Given the description of an element on the screen output the (x, y) to click on. 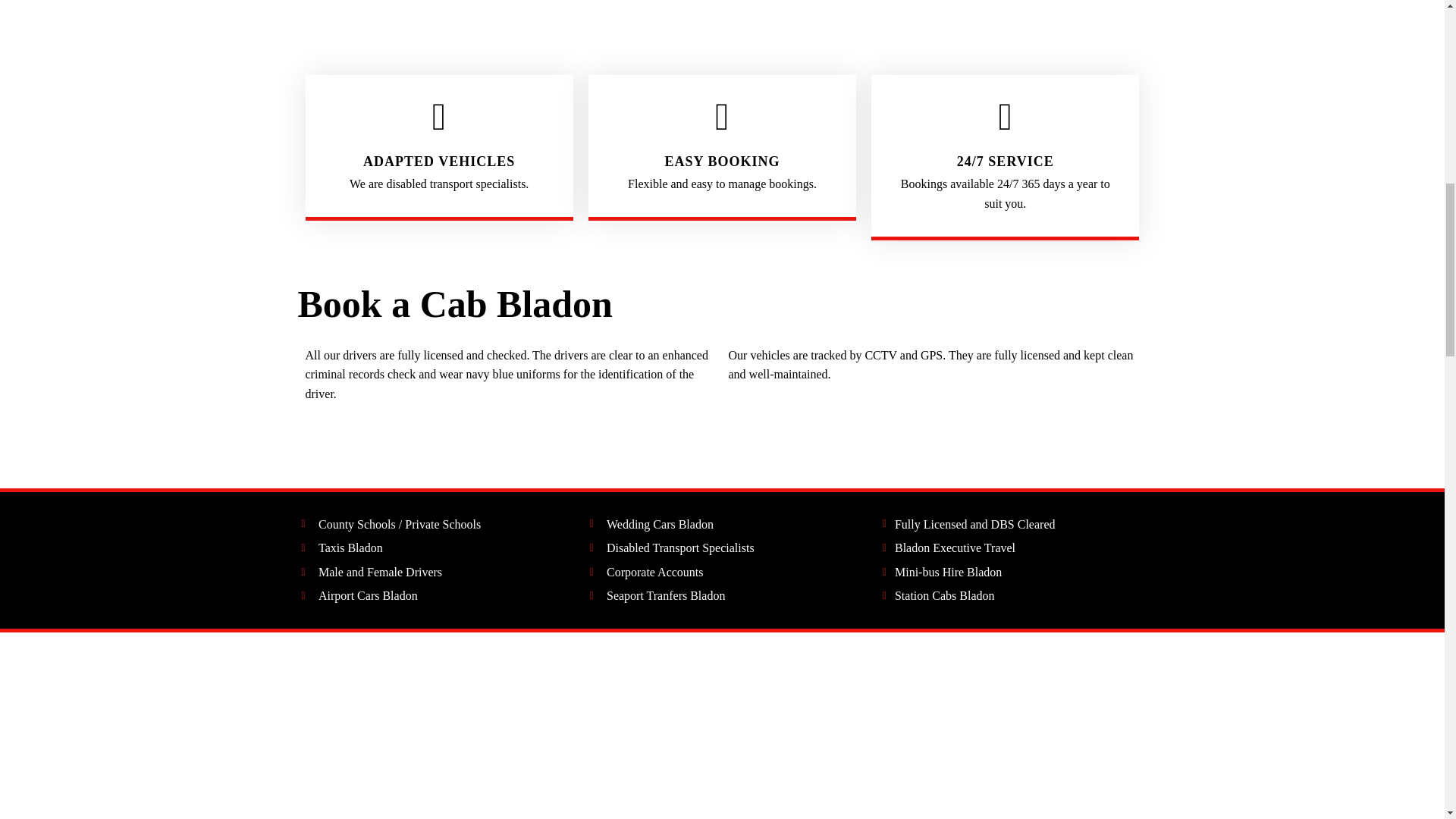
Airport Cars Bladon (434, 596)
Mini-bus Hire Bladon (1009, 572)
Seaport Tranfers Bladon (721, 596)
Station Cabs Bladon (1009, 596)
Wedding Cars Bladon (721, 524)
